Given the description of an element on the screen output the (x, y) to click on. 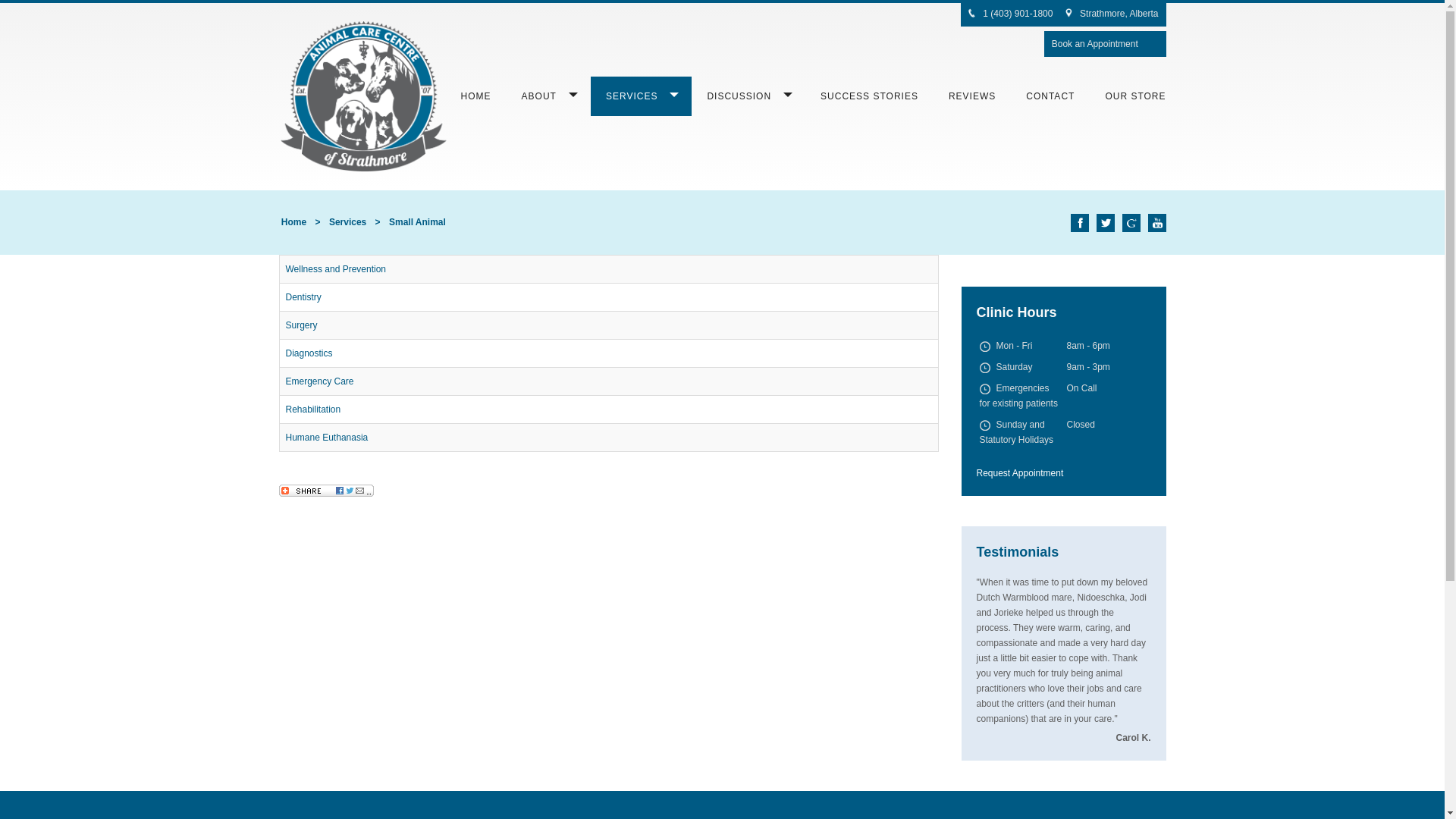
Twitter Element type: hover (1105, 222)
Surgery Element type: text (300, 325)
Dentistry Element type: text (302, 296)
Wellness and Prevention Element type: text (335, 268)
Services Element type: text (347, 221)
Diagnostics Element type: text (308, 353)
ABOUT Element type: text (548, 96)
Google+ Element type: hover (1131, 222)
Strathmore, Alberta Element type: text (1118, 13)
REVIEWS Element type: text (971, 96)
Humane Euthanasia Element type: text (326, 437)
DISCUSSION Element type: text (748, 96)
SERVICES Element type: text (640, 96)
HOME Element type: text (475, 96)
Home Element type: text (293, 221)
Request Appointment Element type: text (1019, 472)
SUCCESS STORIES Element type: text (869, 96)
Facebook Element type: hover (1079, 222)
Emergency Care Element type: text (319, 381)
OUR STORE Element type: text (1134, 96)
YouTube Element type: hover (1157, 222)
CONTACT Element type: text (1049, 96)
Rehabilitation Element type: text (312, 409)
Book an Appointment Element type: text (1094, 43)
